Given the description of an element on the screen output the (x, y) to click on. 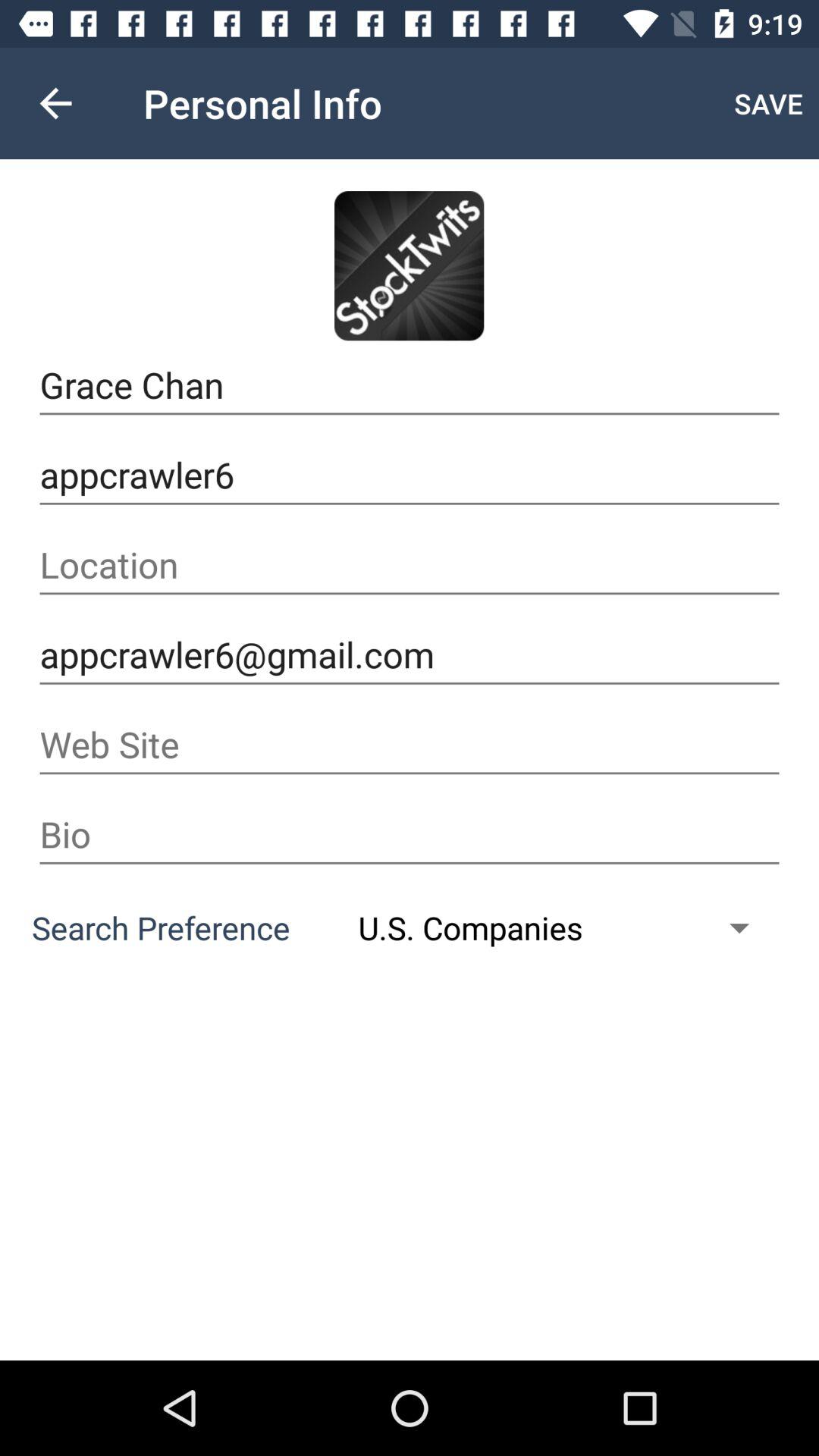
press item above appcrawler6@gmail.com icon (409, 565)
